Given the description of an element on the screen output the (x, y) to click on. 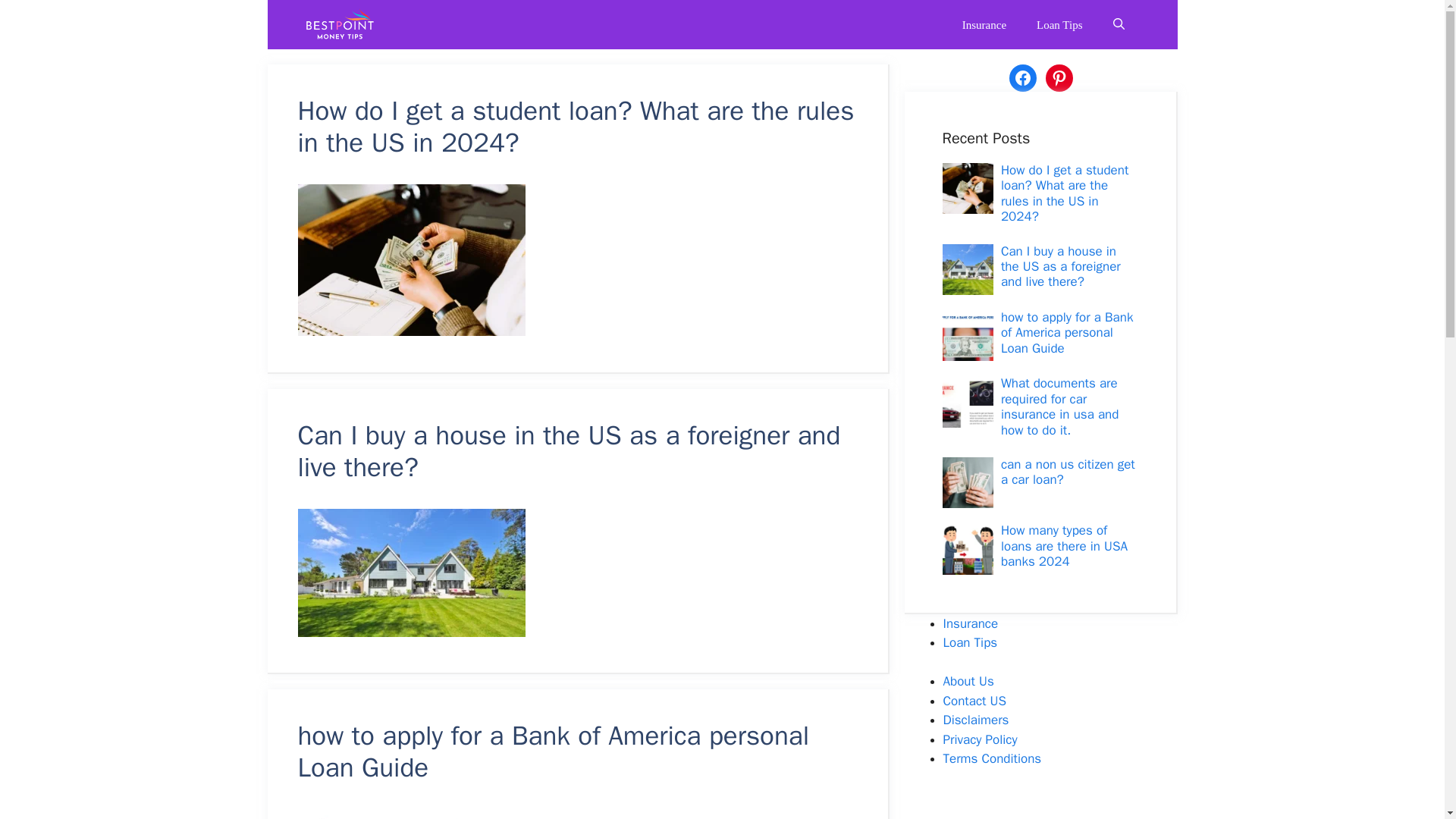
Pinterest (1058, 77)
how to apply for a Bank of America personal Loan Guide (553, 751)
Loan Tips (1059, 23)
Insurance (984, 23)
Terms Conditions (992, 758)
Disclaimers (976, 719)
how to apply for a Bank of America personal Loan Guide 3 (410, 814)
Can I buy a house in the US as a foreigner and live there? (1061, 266)
